Given the description of an element on the screen output the (x, y) to click on. 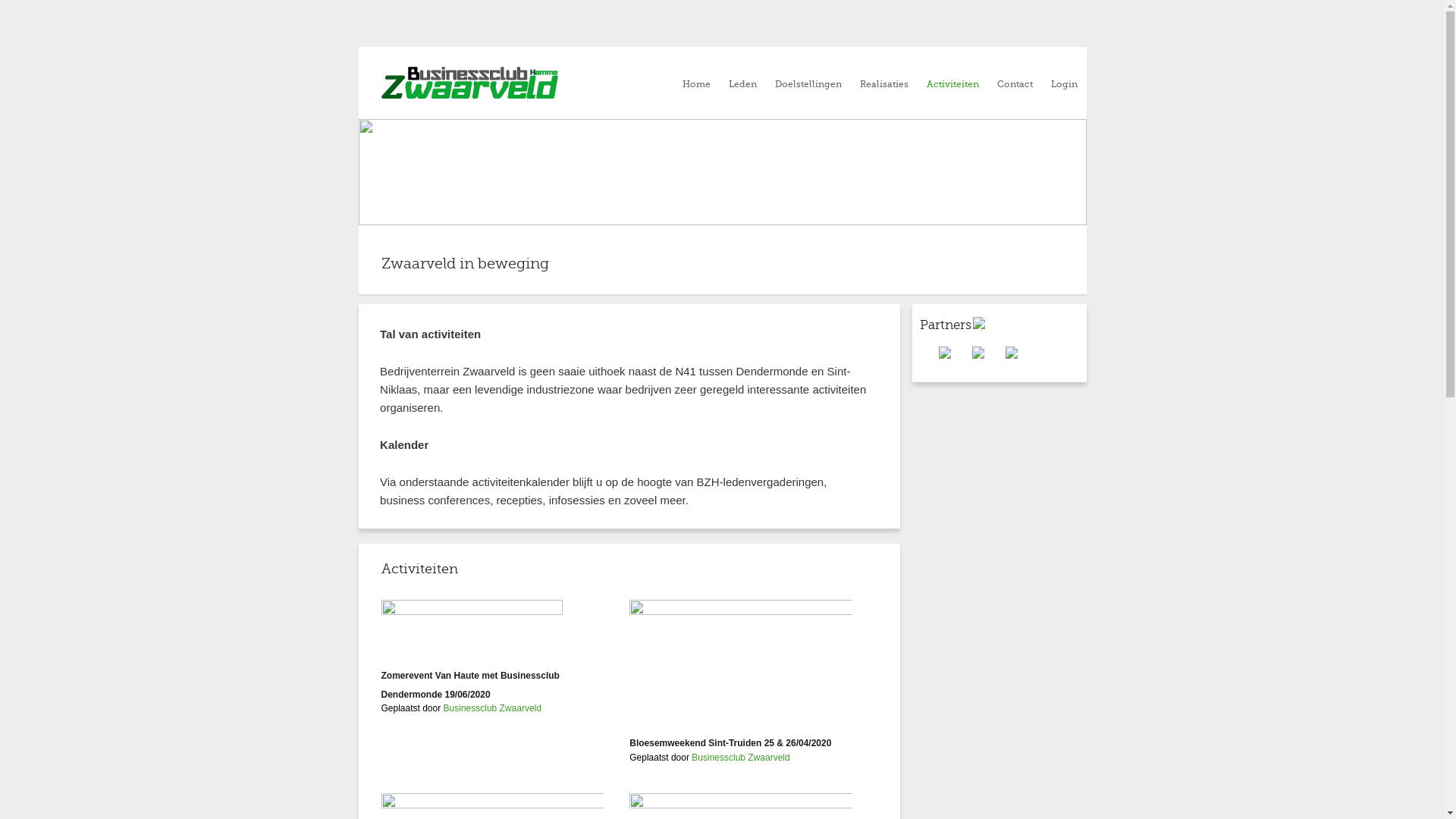
Activiteiten Element type: text (952, 84)
Leden Element type: text (742, 84)
Doelstellingen Element type: text (808, 84)
Realisaties Element type: text (883, 84)
Login Element type: text (1064, 84)
Home Element type: text (696, 84)
Contact Element type: text (1014, 84)
